Given the description of an element on the screen output the (x, y) to click on. 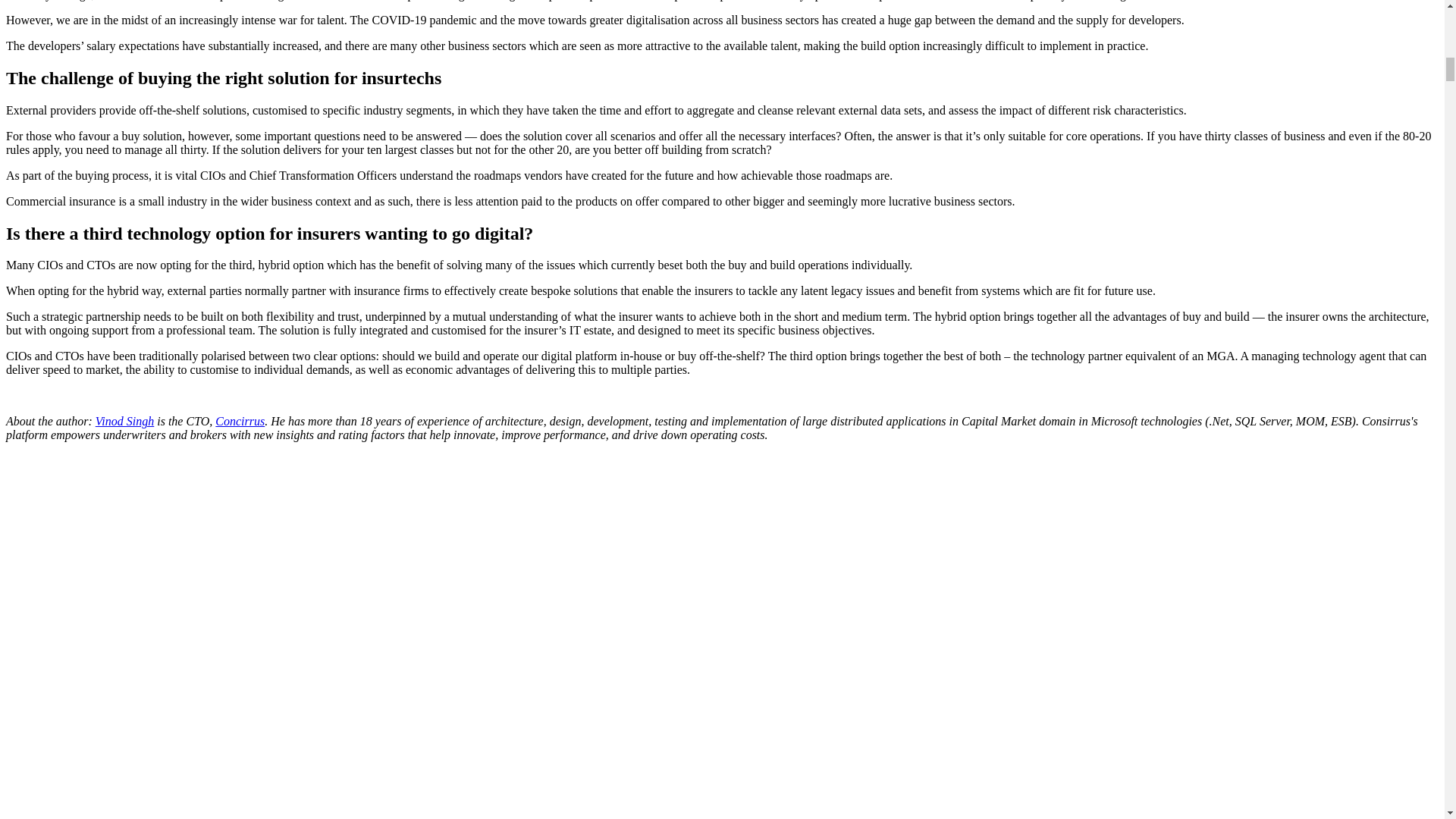
Vinod Singh (125, 420)
Concirrus (239, 420)
